Given the description of an element on the screen output the (x, y) to click on. 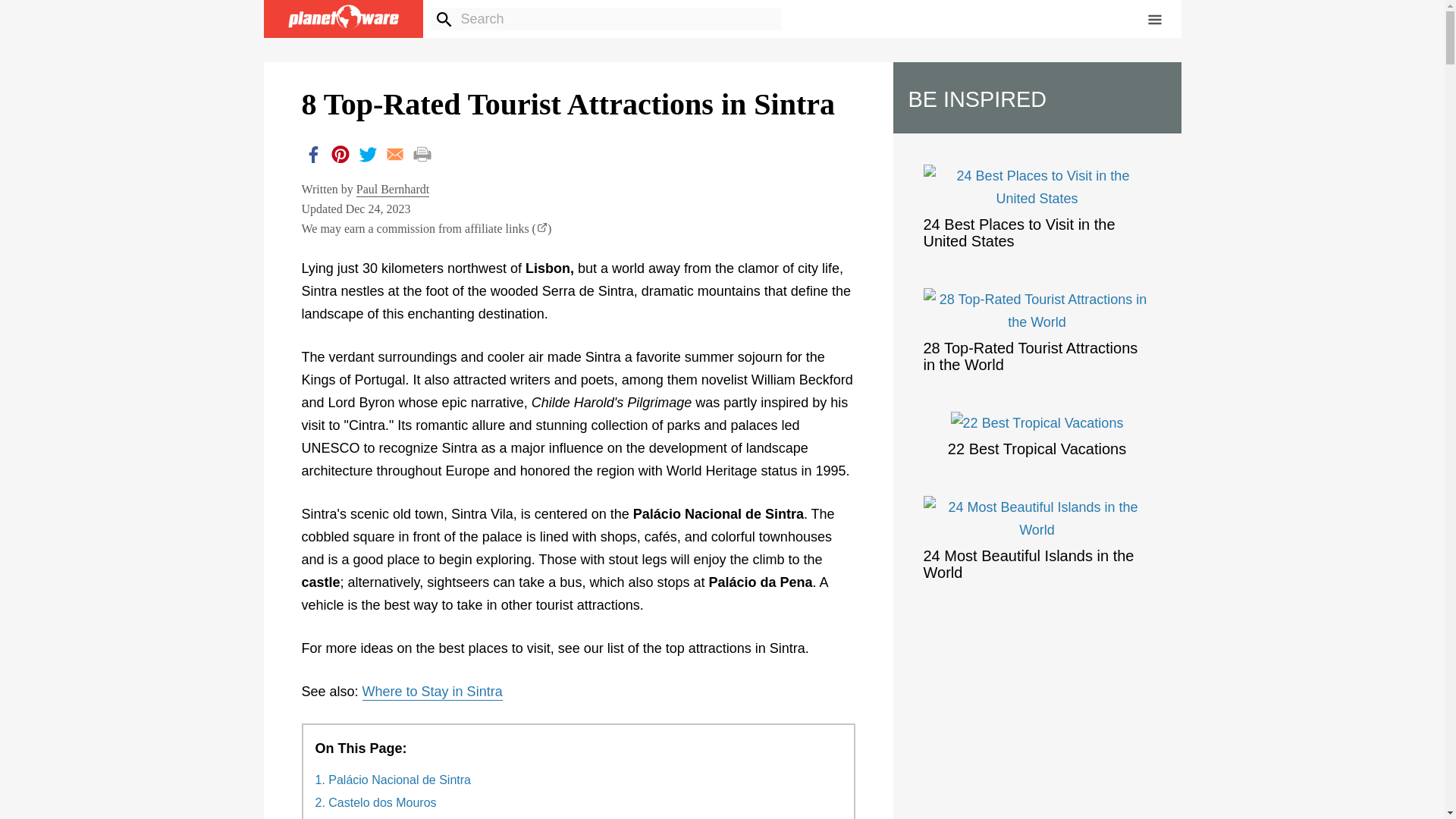
Where to Stay in Sintra (432, 692)
2. Castelo dos Mouros (375, 802)
Paul Bernhardt (392, 189)
